Given the description of an element on the screen output the (x, y) to click on. 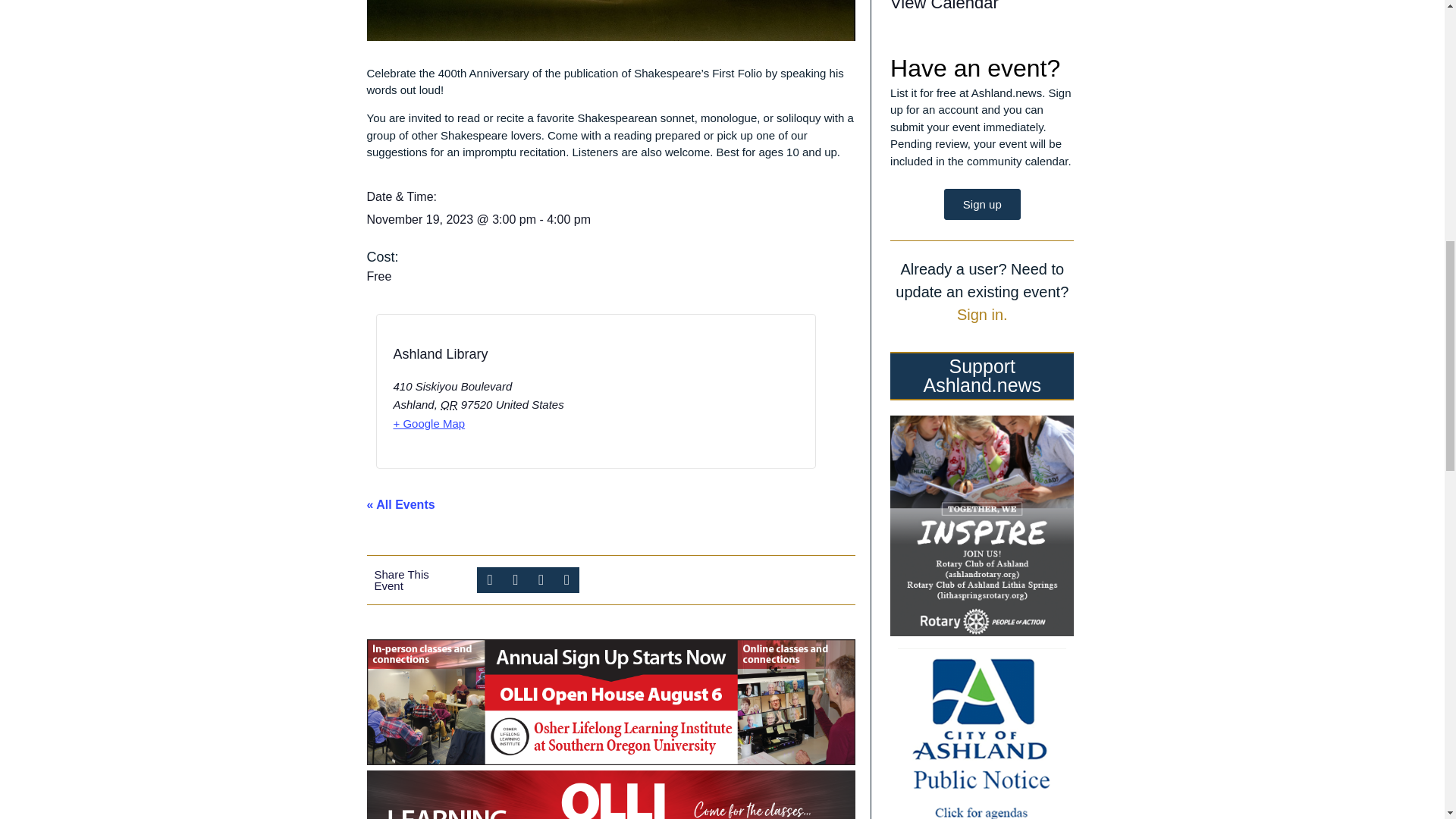
Click to view a Google Map (428, 422)
Oregon (449, 404)
